Given the description of an element on the screen output the (x, y) to click on. 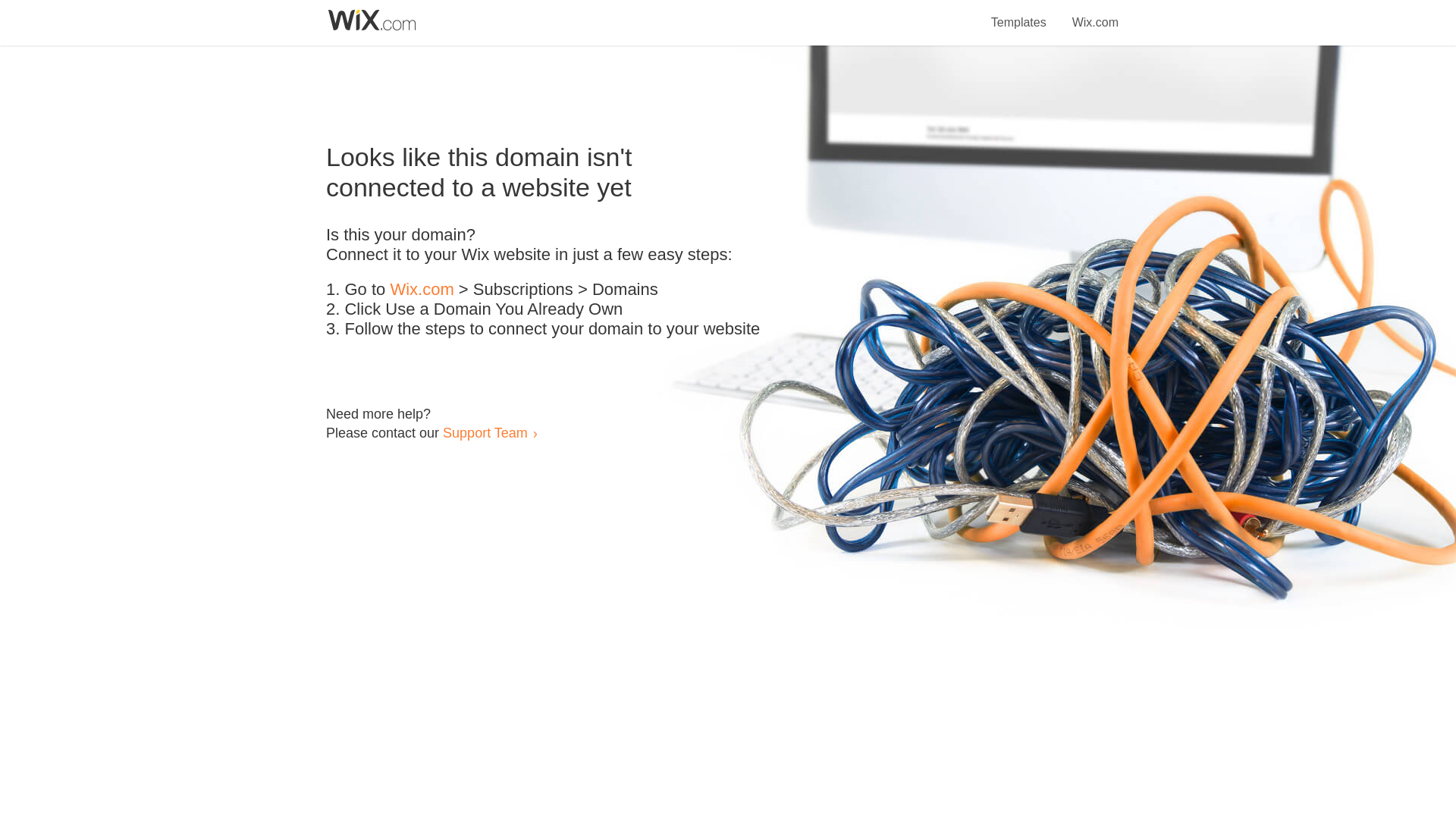
Support Team (484, 432)
Templates (1018, 14)
Wix.com (421, 289)
Wix.com (1095, 14)
